Given the description of an element on the screen output the (x, y) to click on. 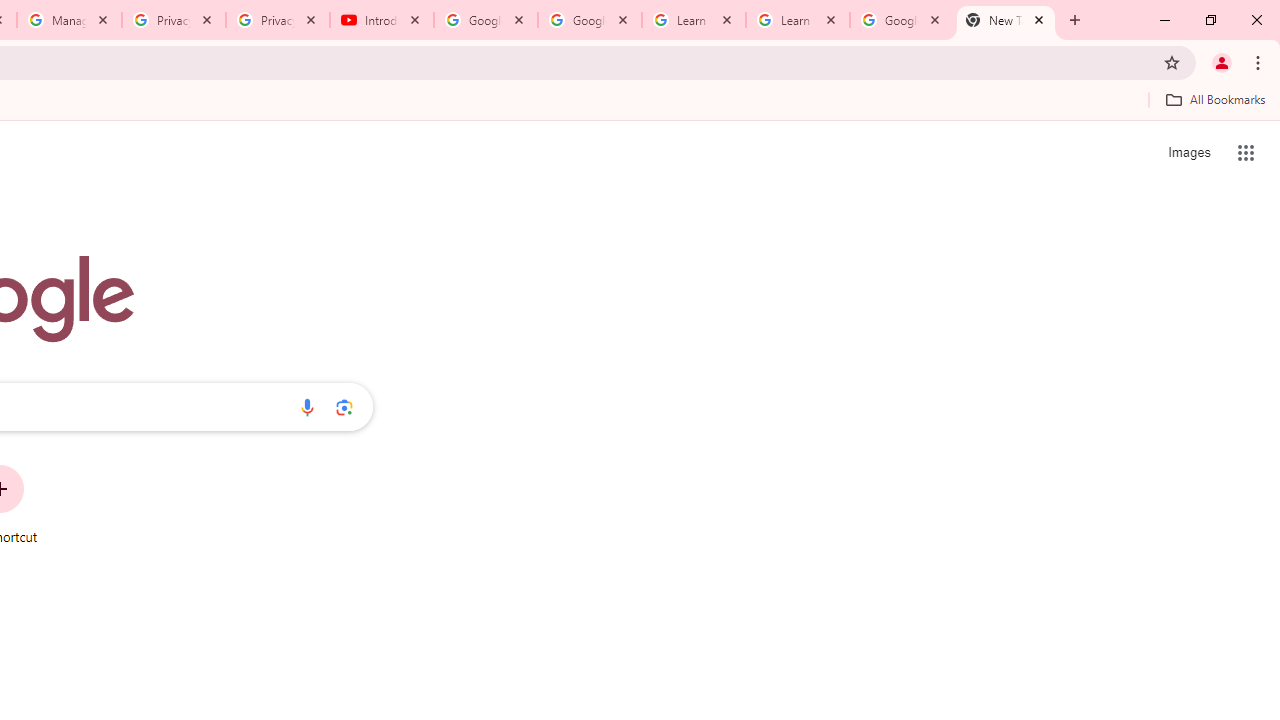
All Bookmarks (1215, 99)
New Tab (1005, 20)
Search for Images  (1188, 152)
You (1221, 62)
Minimize (1165, 20)
New Tab (1075, 20)
Search by voice (307, 407)
Restore (1210, 20)
Google apps (1245, 152)
Chrome (1260, 62)
